Given the description of an element on the screen output the (x, y) to click on. 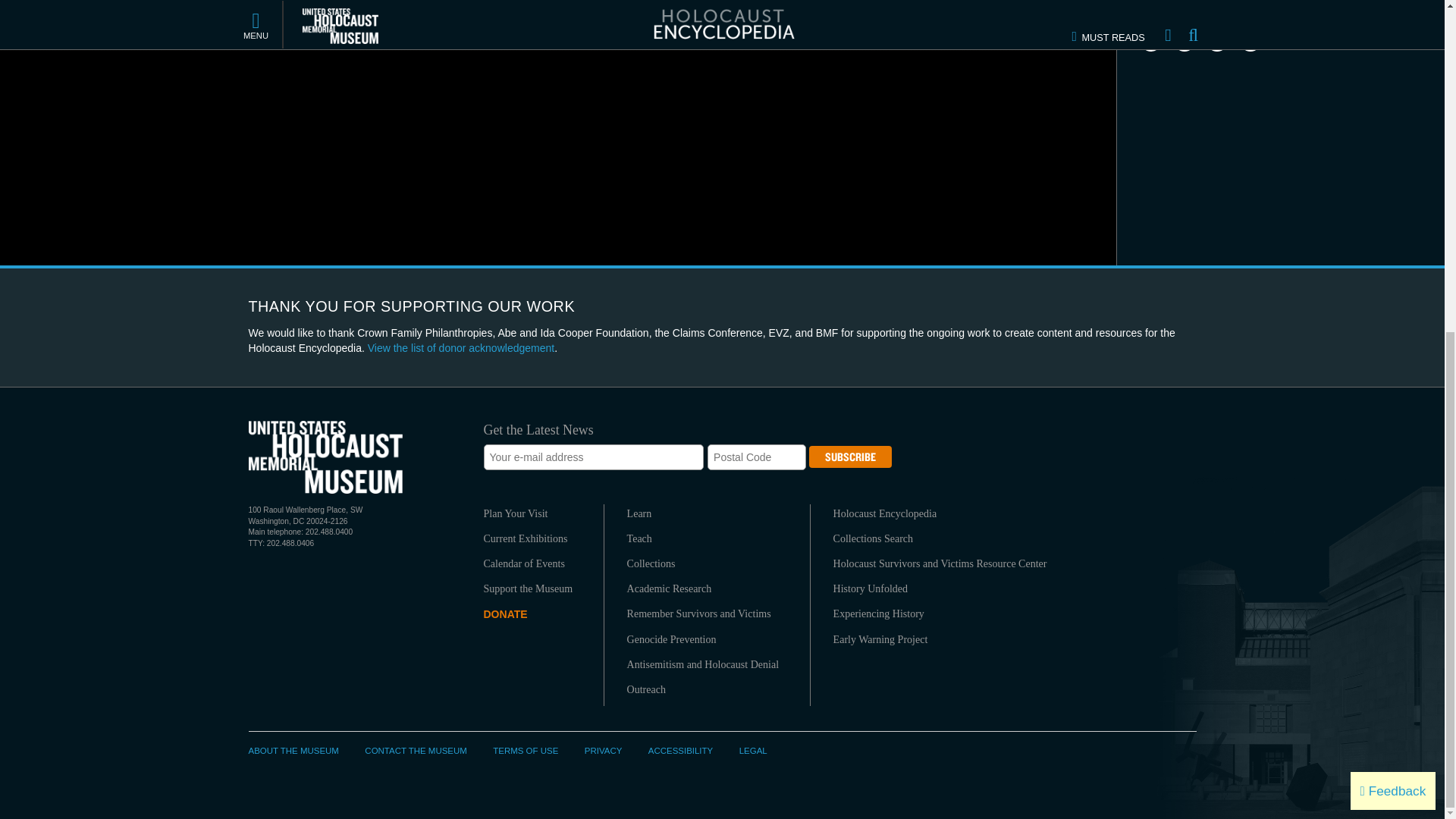
Subscribe (850, 456)
